Given the description of an element on the screen output the (x, y) to click on. 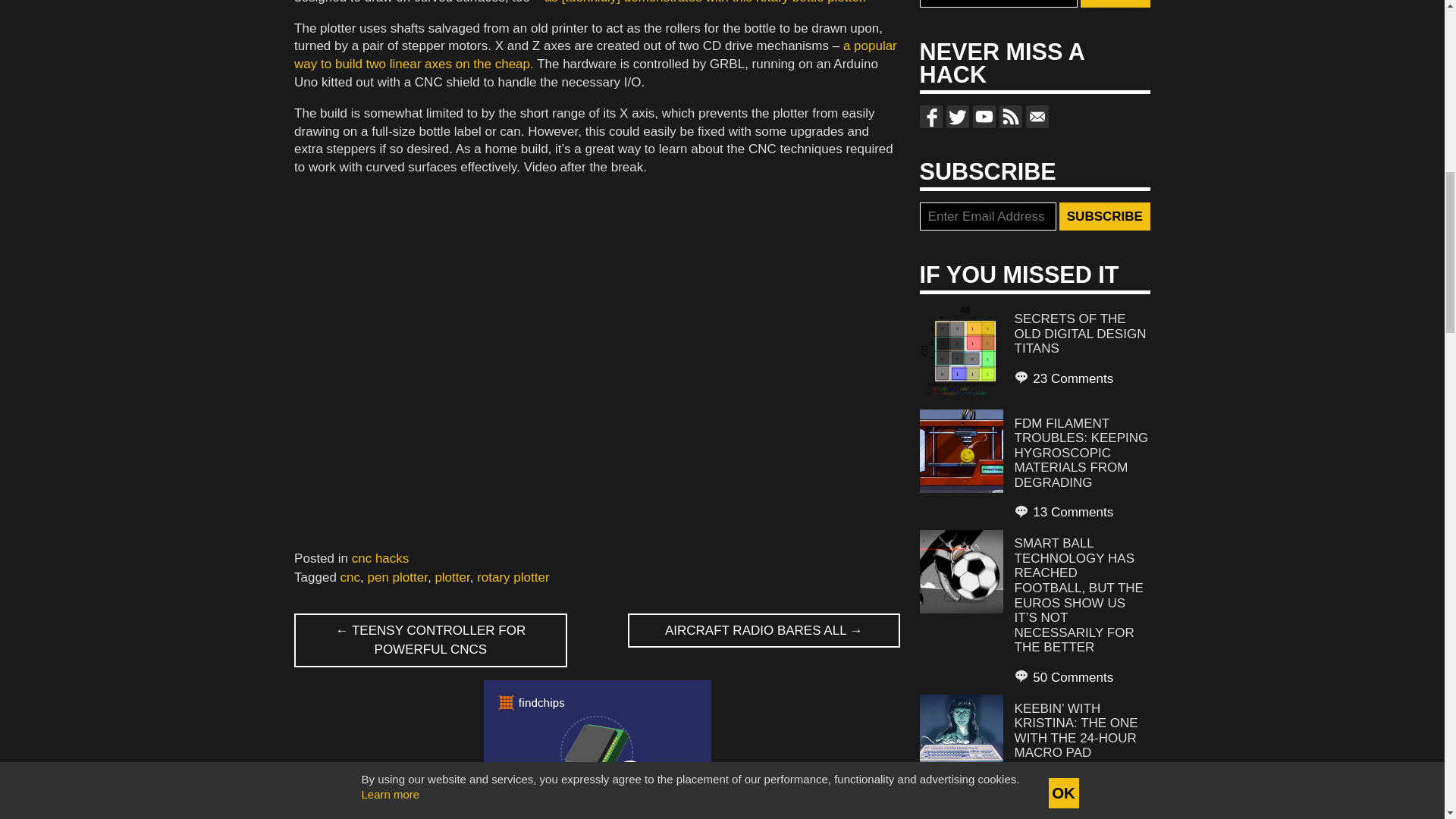
rotary plotter (512, 577)
a popular way to build two linear axes on the cheap. (595, 54)
cnc hacks (380, 558)
cnc (349, 577)
Search (1115, 4)
pen plotter (398, 577)
Subscribe (1104, 216)
Search (1115, 4)
plotter (450, 577)
